Given the description of an element on the screen output the (x, y) to click on. 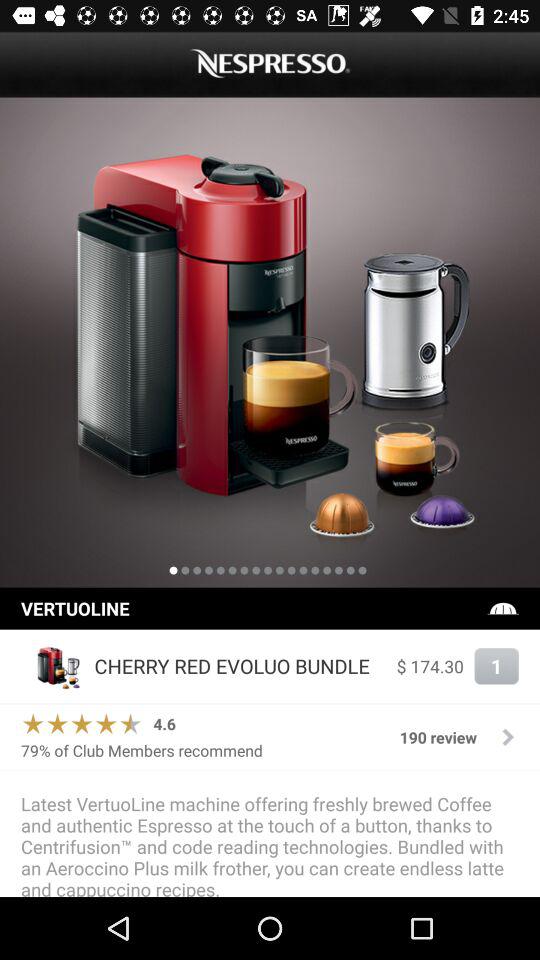
tap the icon above 79 of club (81, 723)
